Given the description of an element on the screen output the (x, y) to click on. 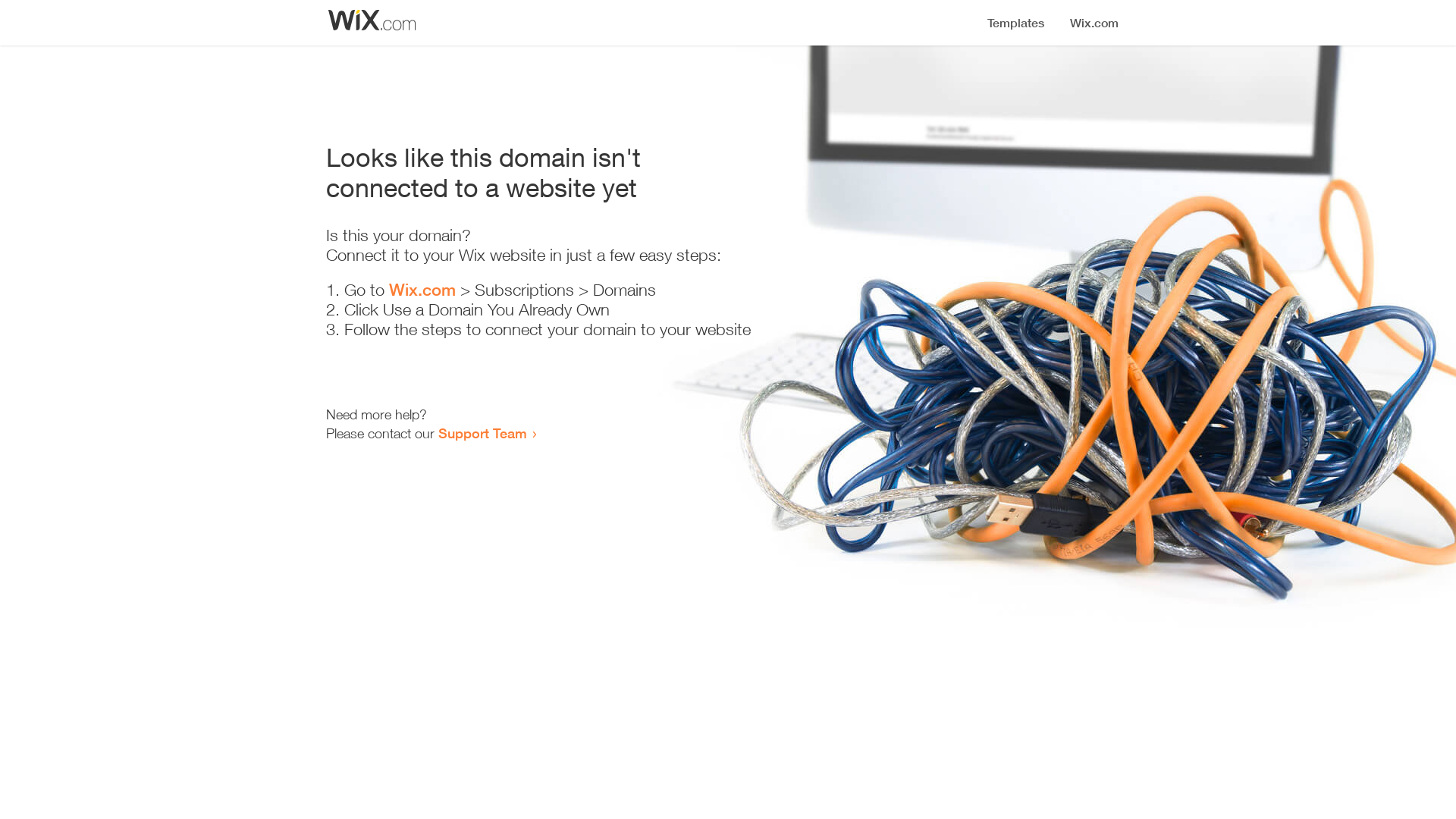
Wix.com Element type: text (422, 289)
Support Team Element type: text (482, 432)
